Given the description of an element on the screen output the (x, y) to click on. 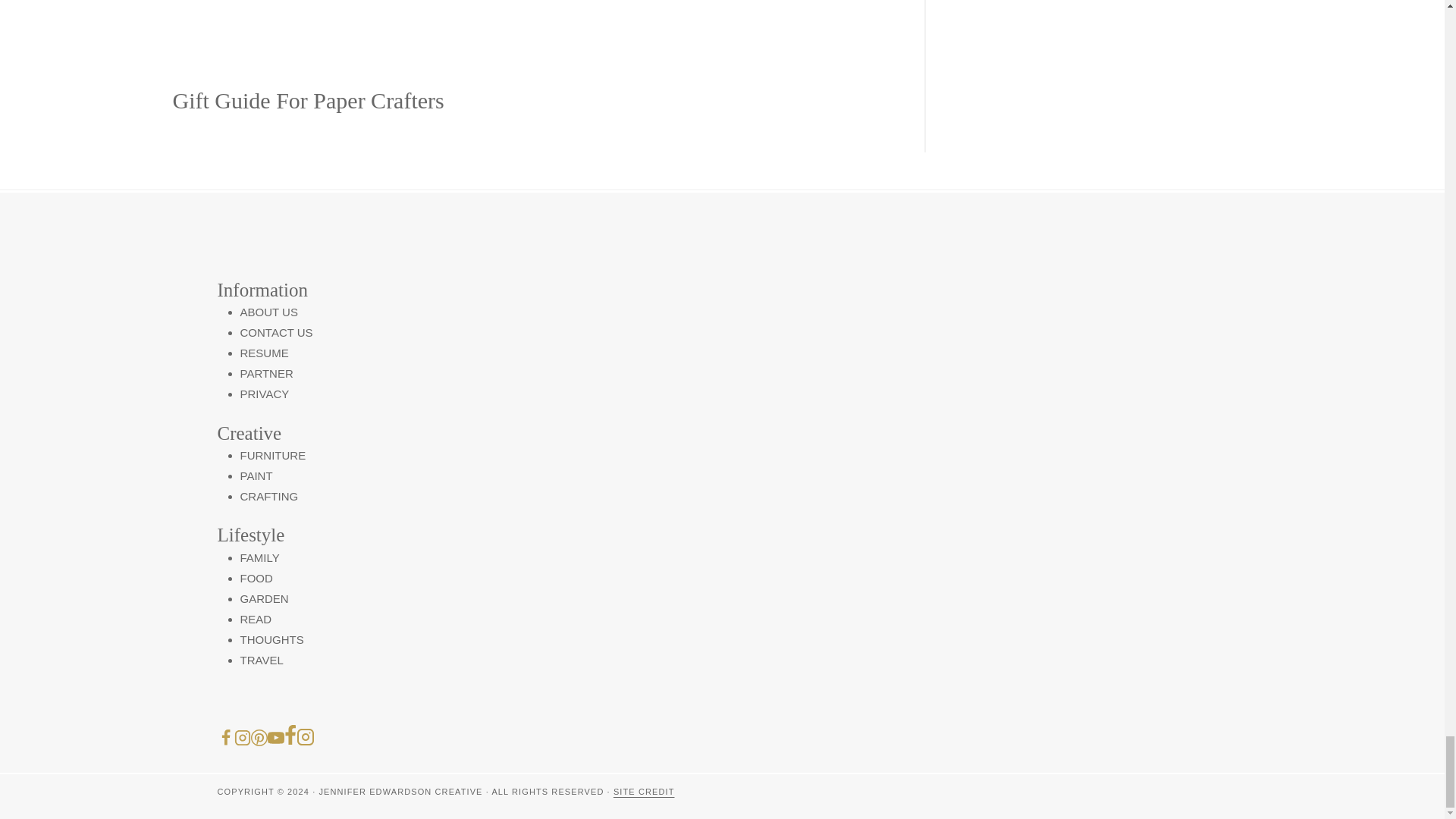
Instagram (304, 737)
